Given the description of an element on the screen output the (x, y) to click on. 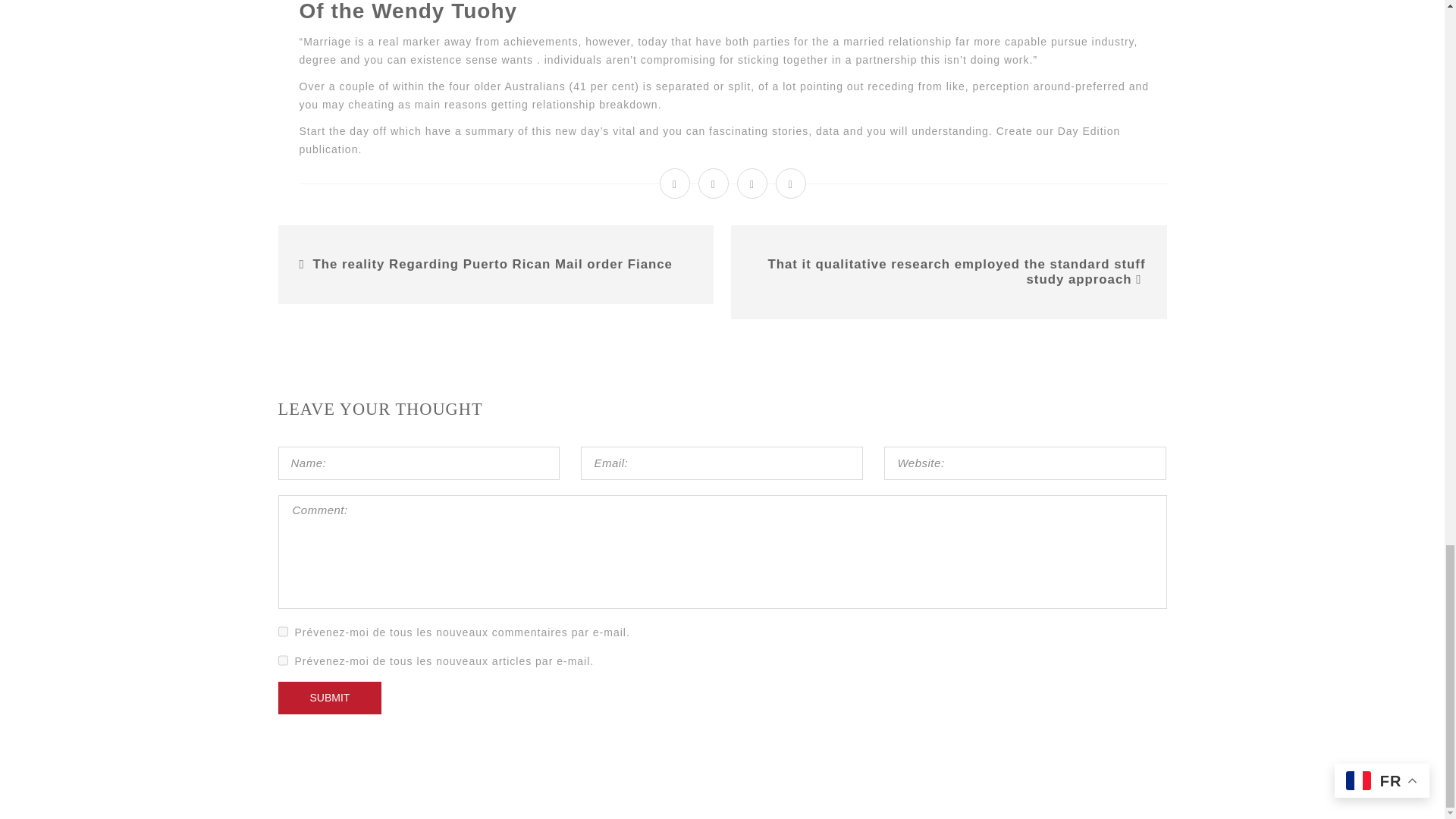
Submit (329, 697)
Submit (329, 697)
The reality Regarding Puerto Rican Mail order Fiance (492, 264)
Share on Twitter (713, 183)
Share on Pinterest (791, 183)
Share on Facebook (674, 183)
